Given the description of an element on the screen output the (x, y) to click on. 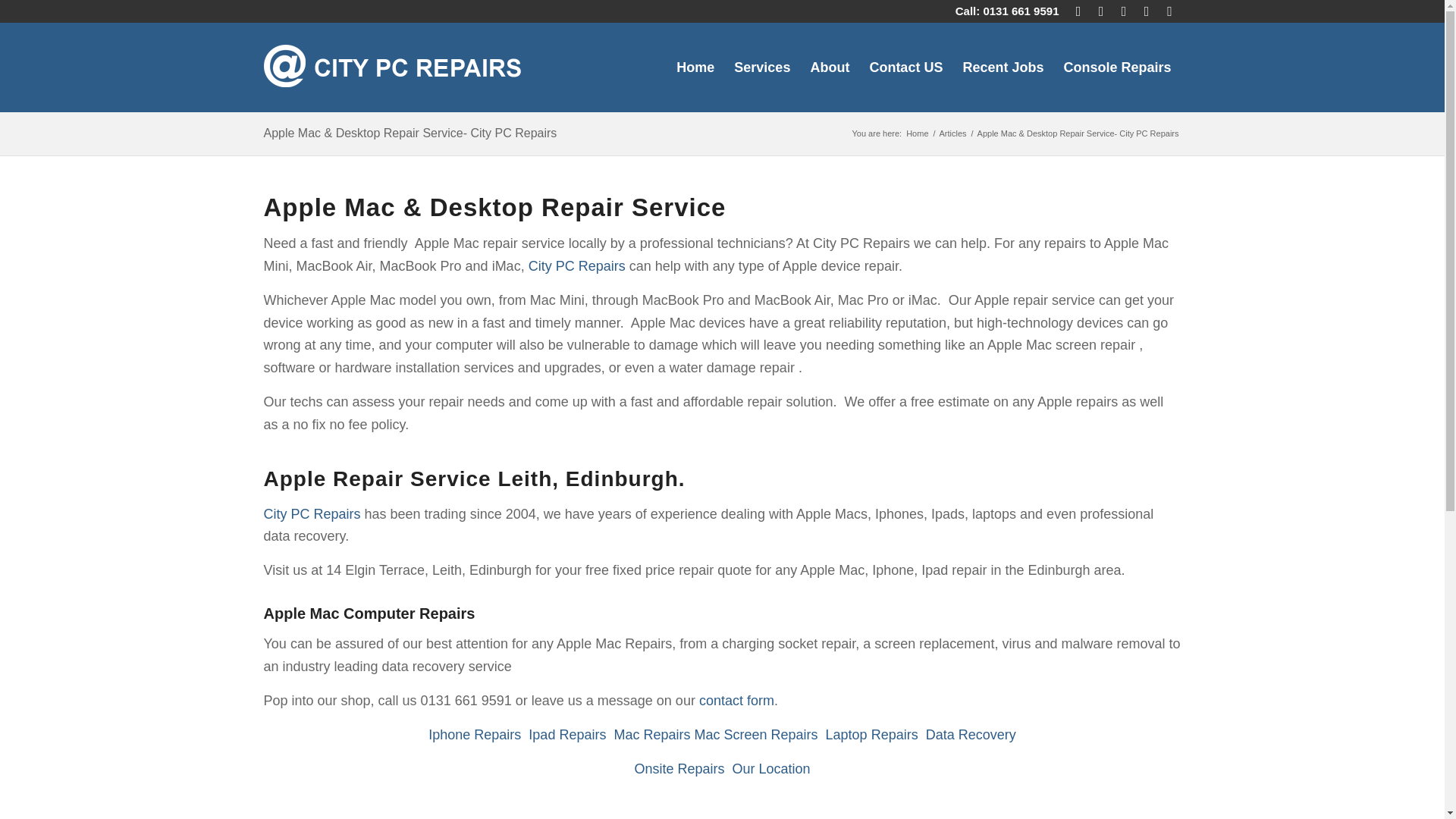
City PC Repairs (577, 265)
Home (917, 133)
Mail (1078, 11)
Articles (953, 133)
Mac Screen Repairs (755, 734)
logo21 (392, 64)
logo21 (392, 67)
Instagram (1146, 11)
contact form (736, 700)
Tumblr (1169, 11)
